Given the description of an element on the screen output the (x, y) to click on. 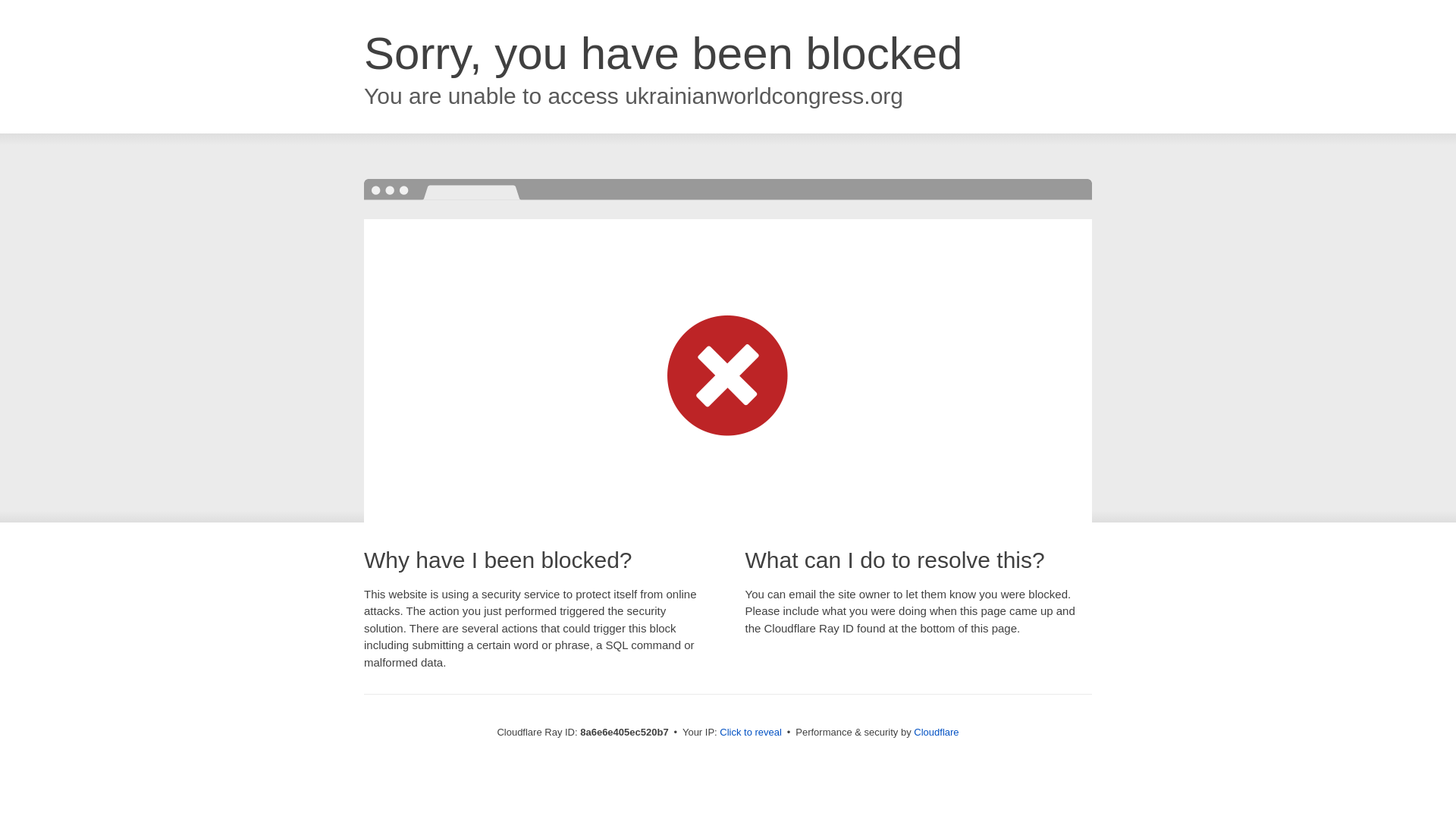
Click to reveal (750, 732)
Cloudflare (936, 731)
